Given the description of an element on the screen output the (x, y) to click on. 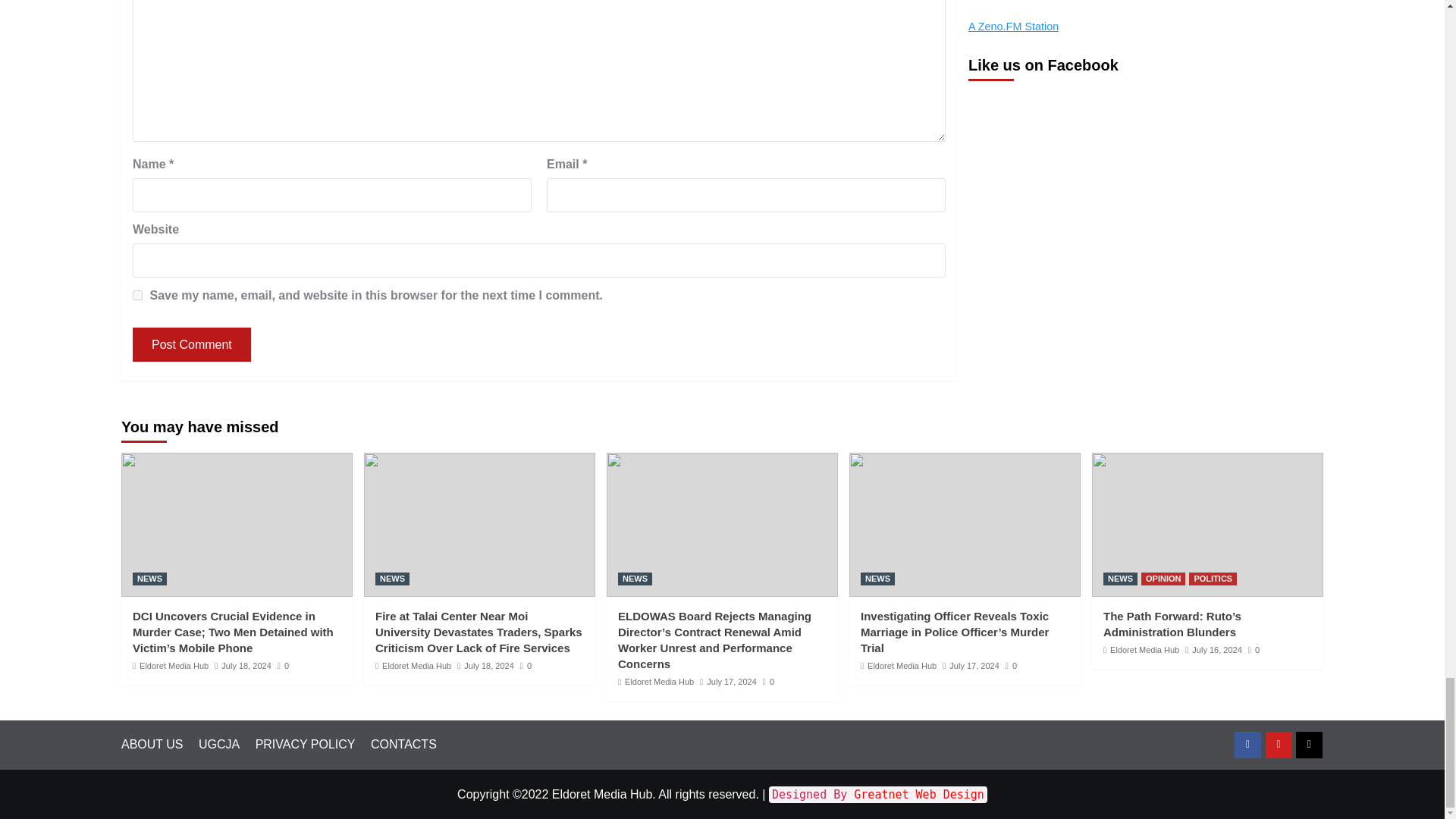
Post Comment (191, 344)
yes (137, 295)
